Given the description of an element on the screen output the (x, y) to click on. 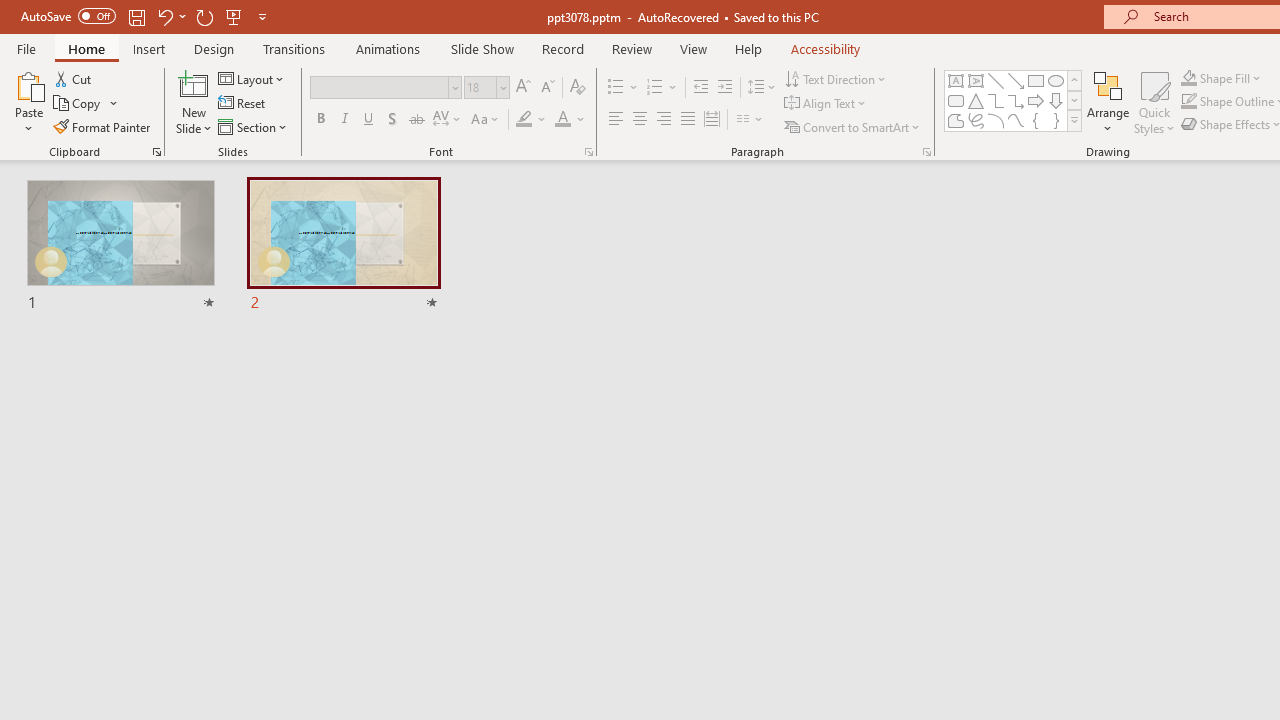
Animations (388, 48)
Connector: Elbow Arrow (1016, 100)
Arrange (1108, 102)
Paste (28, 84)
Line Arrow (1016, 80)
Class: NetUIImage (1075, 120)
Align Left (616, 119)
File Tab (26, 48)
Decrease Font Size (547, 87)
Left Brace (1035, 120)
Center (639, 119)
Align Right (663, 119)
Reset (243, 103)
Font Color Red (562, 119)
Slide (344, 246)
